Given the description of an element on the screen output the (x, y) to click on. 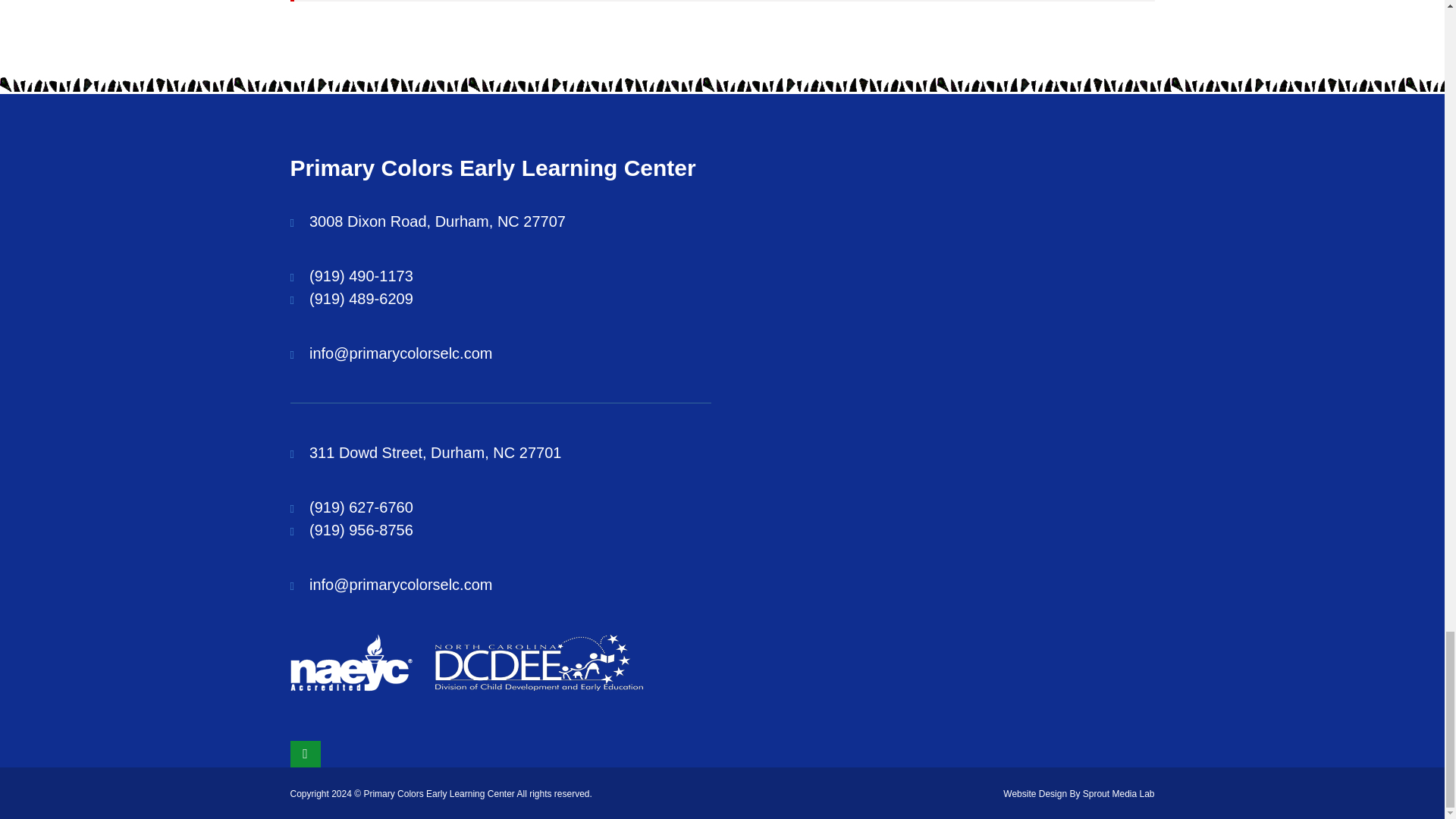
fax (360, 529)
email (400, 584)
Primary Colors Early Learning Center All rights reserved. (476, 793)
Primary Colors Early Learning Center All rights reserved. (476, 793)
partners-logo (350, 662)
partners-logo (539, 662)
Sprout Media Lab (1118, 793)
phone (360, 506)
Sprout Media Lab (1118, 793)
311 Dowd Street, Durham, NC 27701 (434, 452)
fax (360, 298)
phone (360, 275)
map (437, 221)
map (434, 452)
email (400, 352)
